Given the description of an element on the screen output the (x, y) to click on. 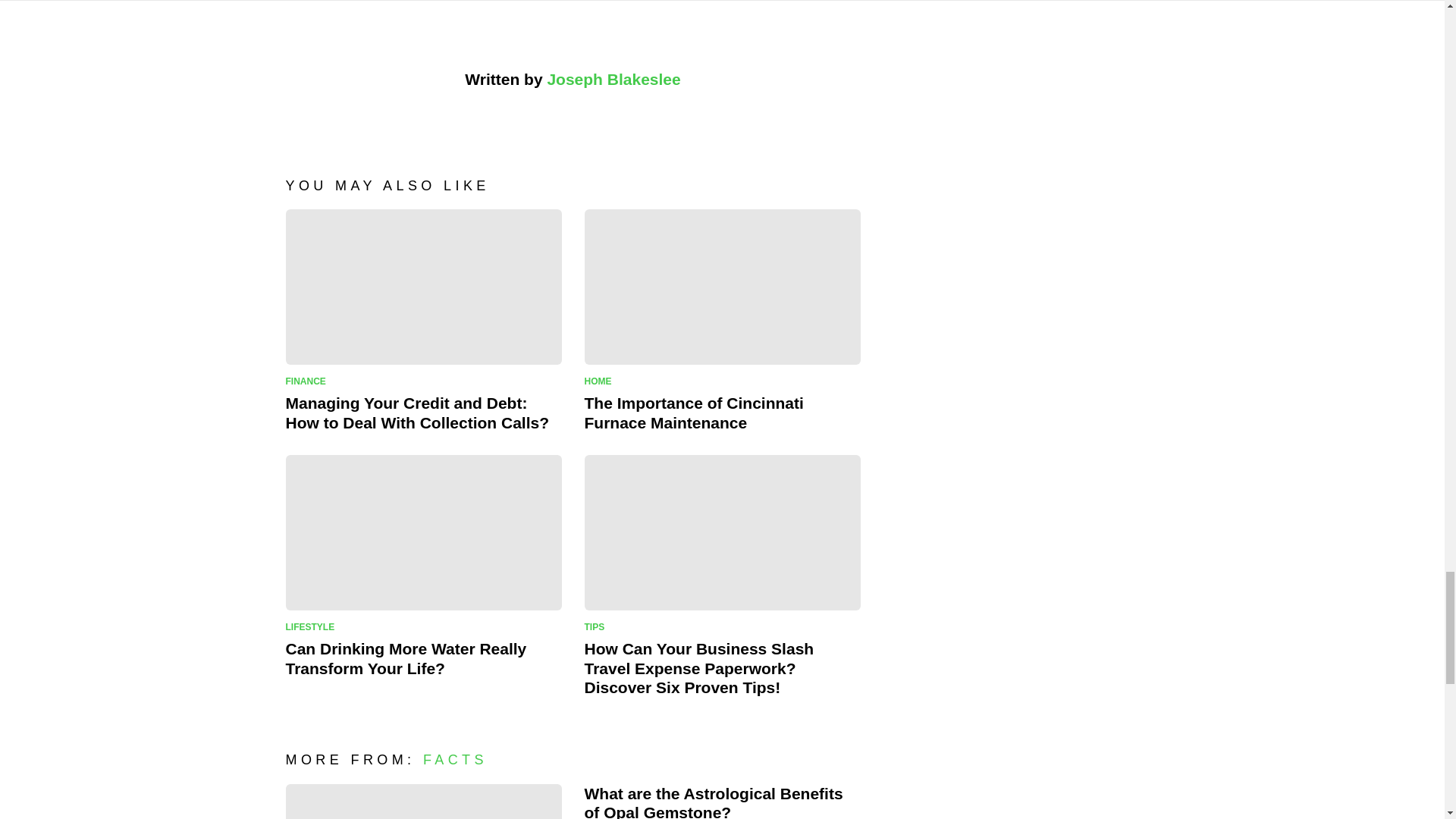
FINANCE (308, 381)
The Importance of Cincinnati Furnace Maintenance (721, 286)
The Importance of Cincinnati Furnace Maintenance (693, 411)
Can Drinking More Water Really Transform Your Life? (422, 532)
HOME (600, 381)
Joseph Blakeslee (613, 78)
What are the Astrological Benefits of Opal Gemstone? (422, 801)
